Given the description of an element on the screen output the (x, y) to click on. 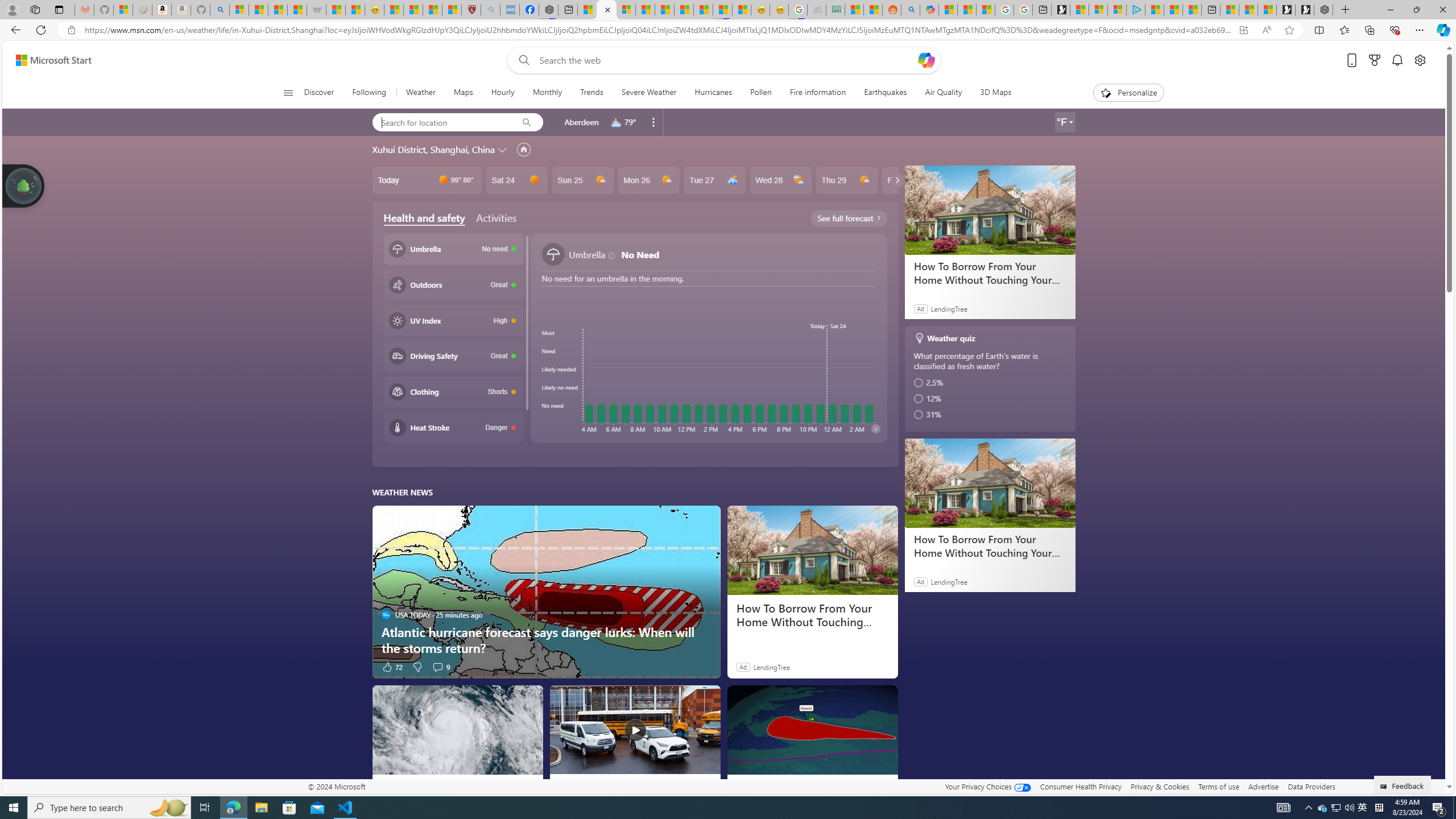
Weather settings (1064, 122)
Mon 26 (648, 180)
Air Quality (943, 92)
Thu 29 (846, 180)
Search for location (440, 122)
31% (990, 414)
2.5% (990, 382)
View comments 9 Comment (440, 666)
